Given the description of an element on the screen output the (x, y) to click on. 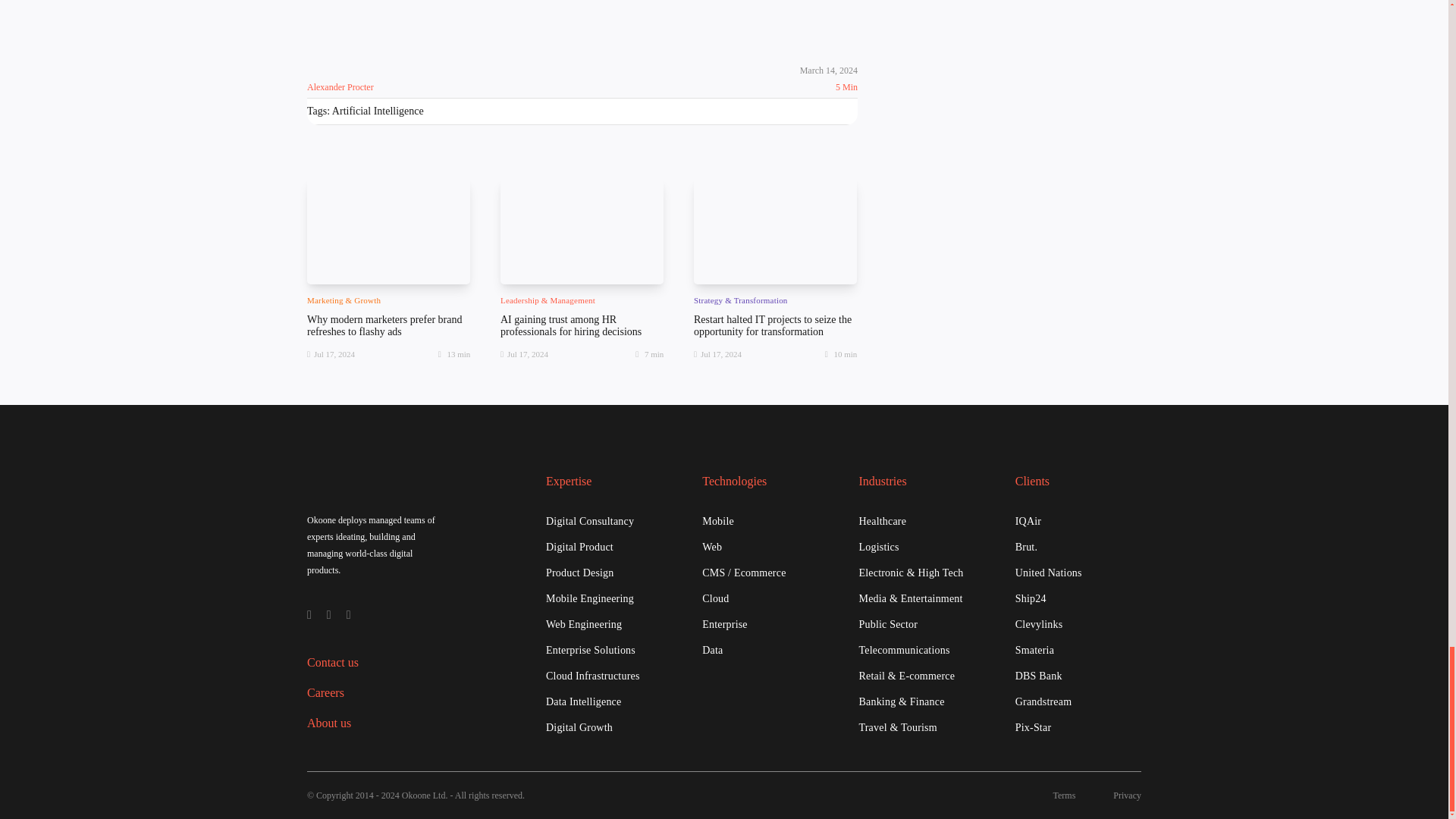
Why modern marketers prefer brand refreshes to flashy ads (384, 325)
alexander-procter (329, 53)
Artificial Intelligence (377, 111)
AI gaining trust among HR professionals for hiring decisions (571, 325)
